Given the description of an element on the screen output the (x, y) to click on. 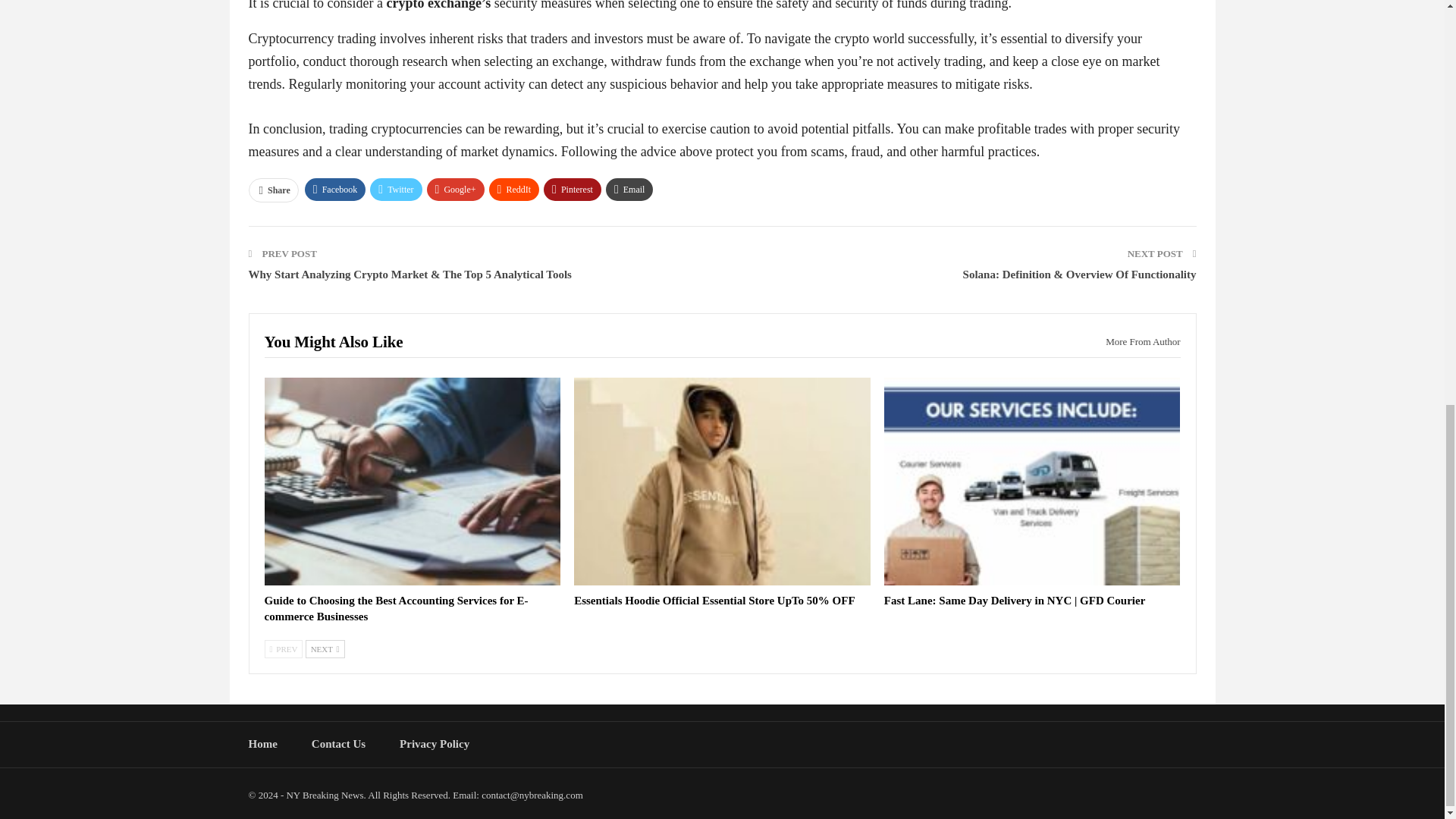
Next (325, 648)
ReddIt (514, 189)
Twitter (395, 189)
Facebook (335, 189)
Previous (282, 648)
